Given the description of an element on the screen output the (x, y) to click on. 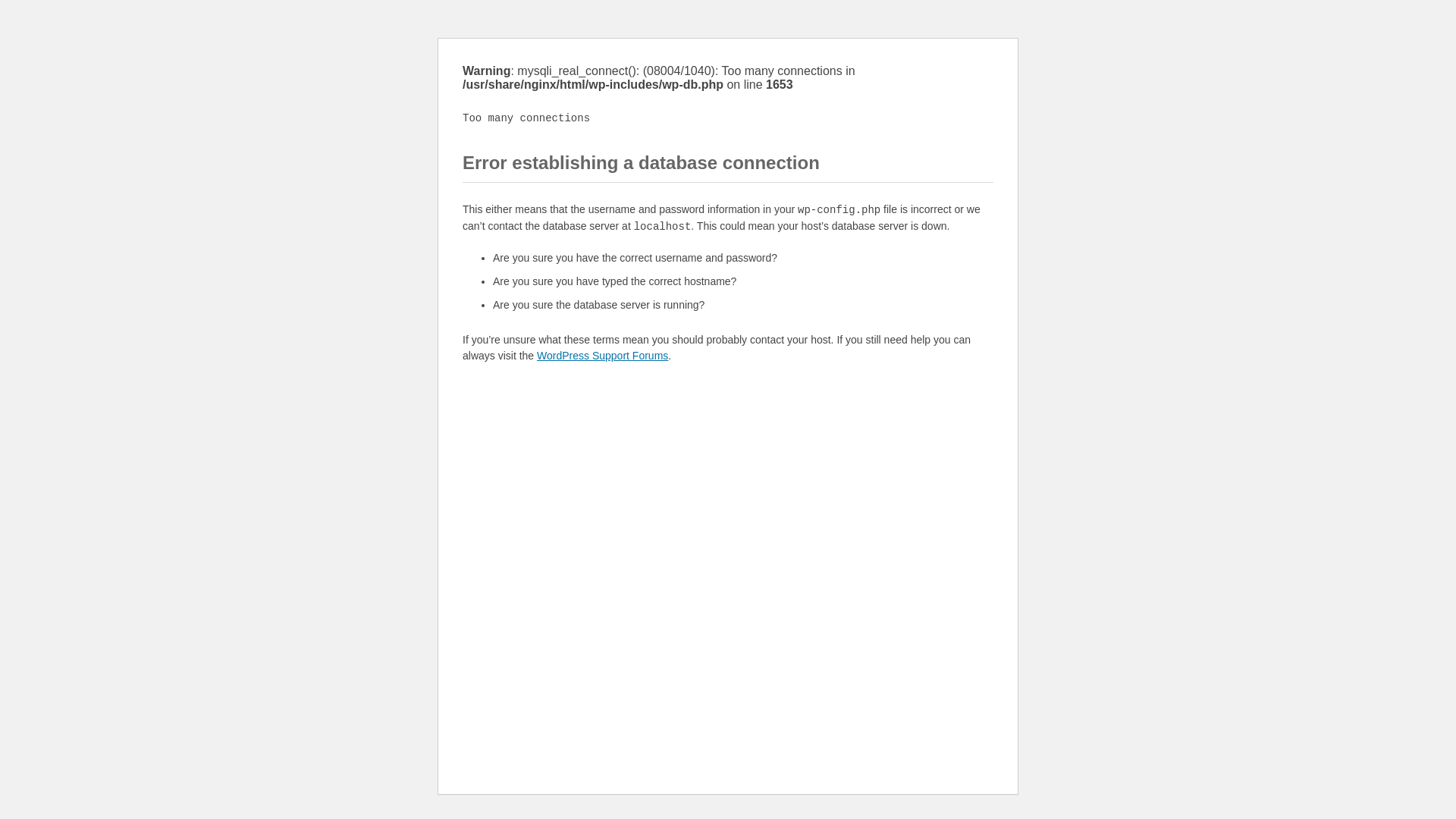
WordPress Support Forums (602, 355)
